Given the description of an element on the screen output the (x, y) to click on. 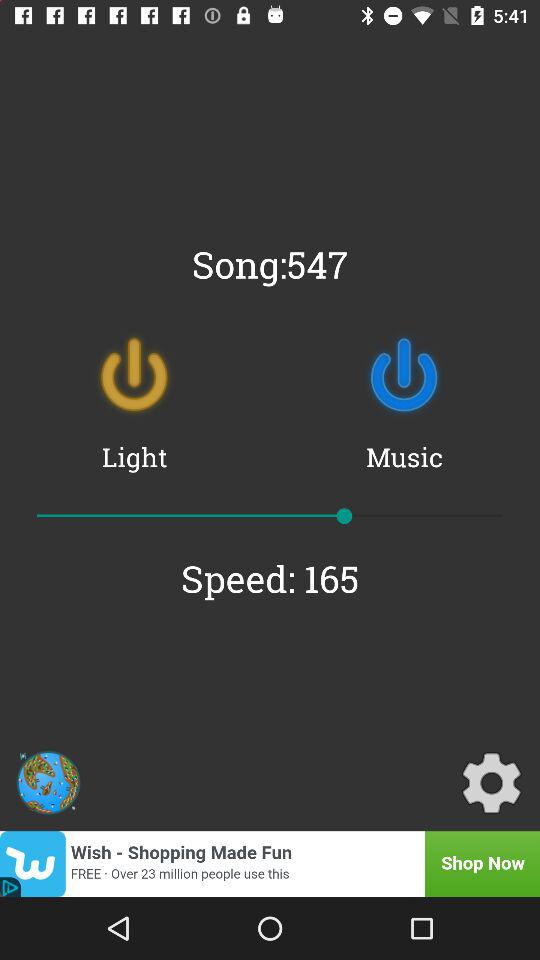
launch song:547 item (270, 264)
